Given the description of an element on the screen output the (x, y) to click on. 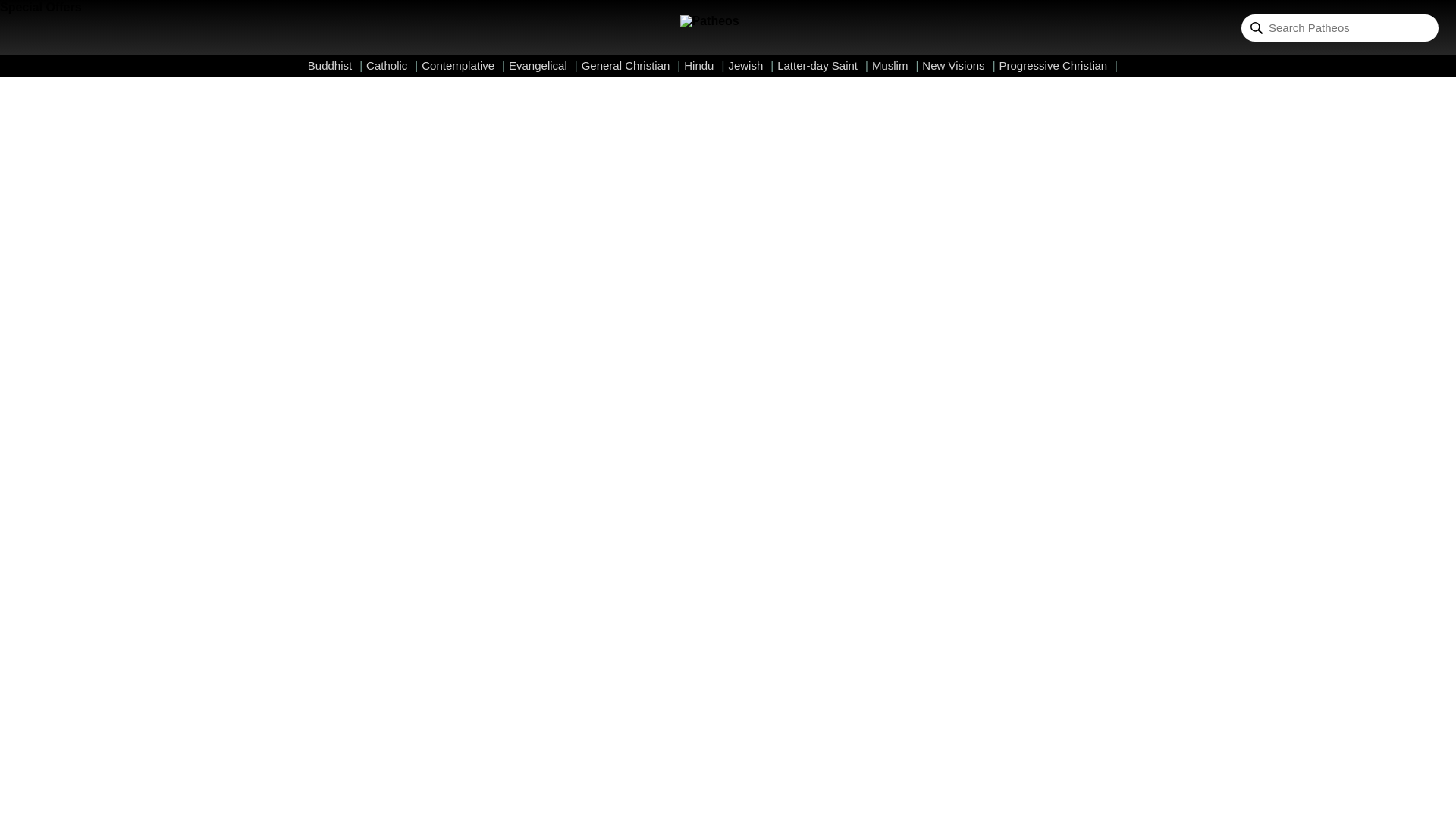
Catholic (391, 65)
Latter-day Saint (822, 65)
Jewish (750, 65)
Evangelical (543, 65)
New Visions (957, 65)
Buddhist (334, 65)
Special Offers (40, 6)
Muslim (895, 65)
Progressive Christian (1058, 65)
Contemplative (463, 65)
General Christian (630, 65)
Hindu (703, 65)
